Given the description of an element on the screen output the (x, y) to click on. 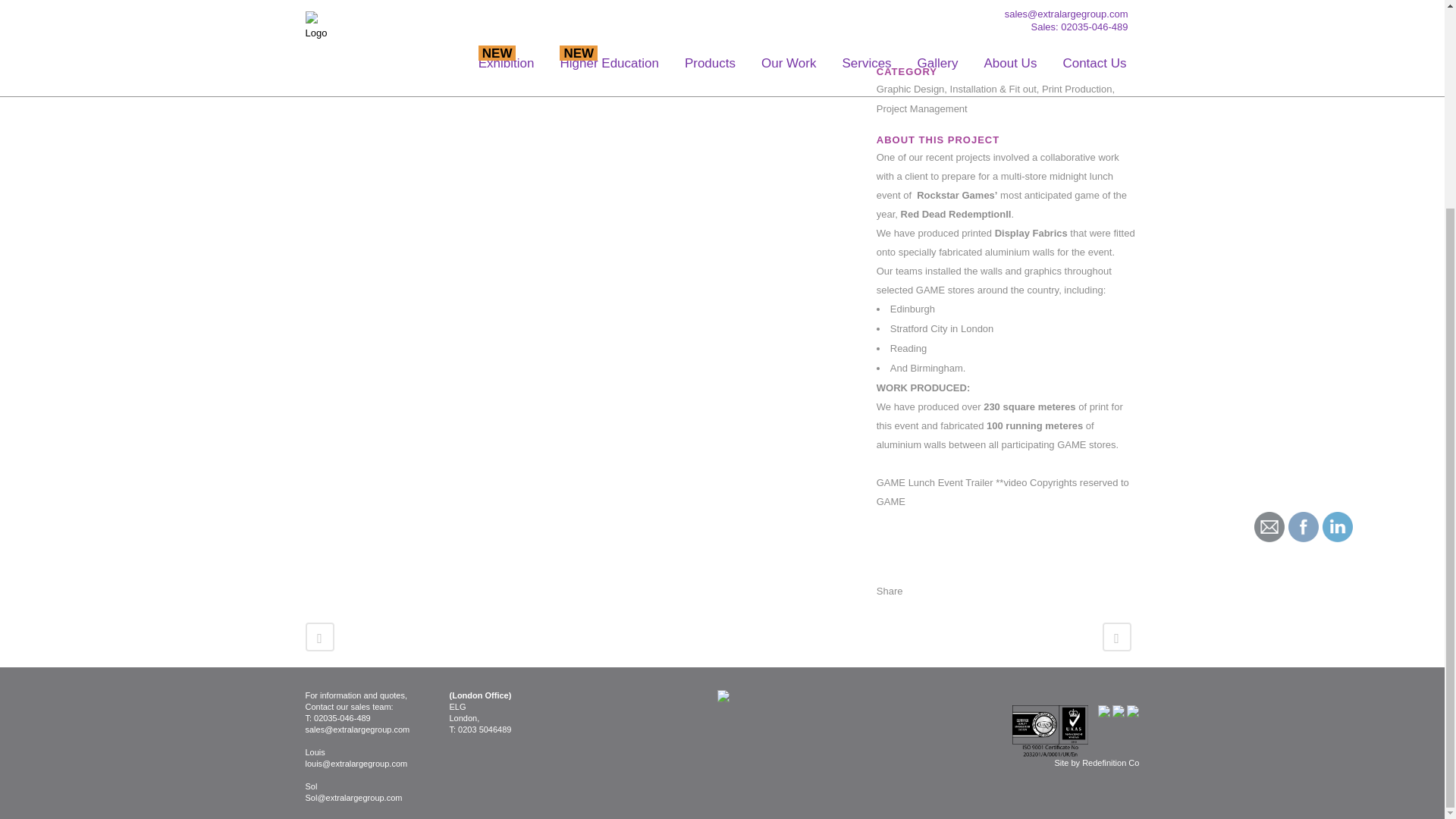
Share (889, 591)
LinkedIn (1337, 526)
Facebook (1303, 526)
Redefinition Co (1109, 762)
Follow by Email (1268, 526)
